Given the description of an element on the screen output the (x, y) to click on. 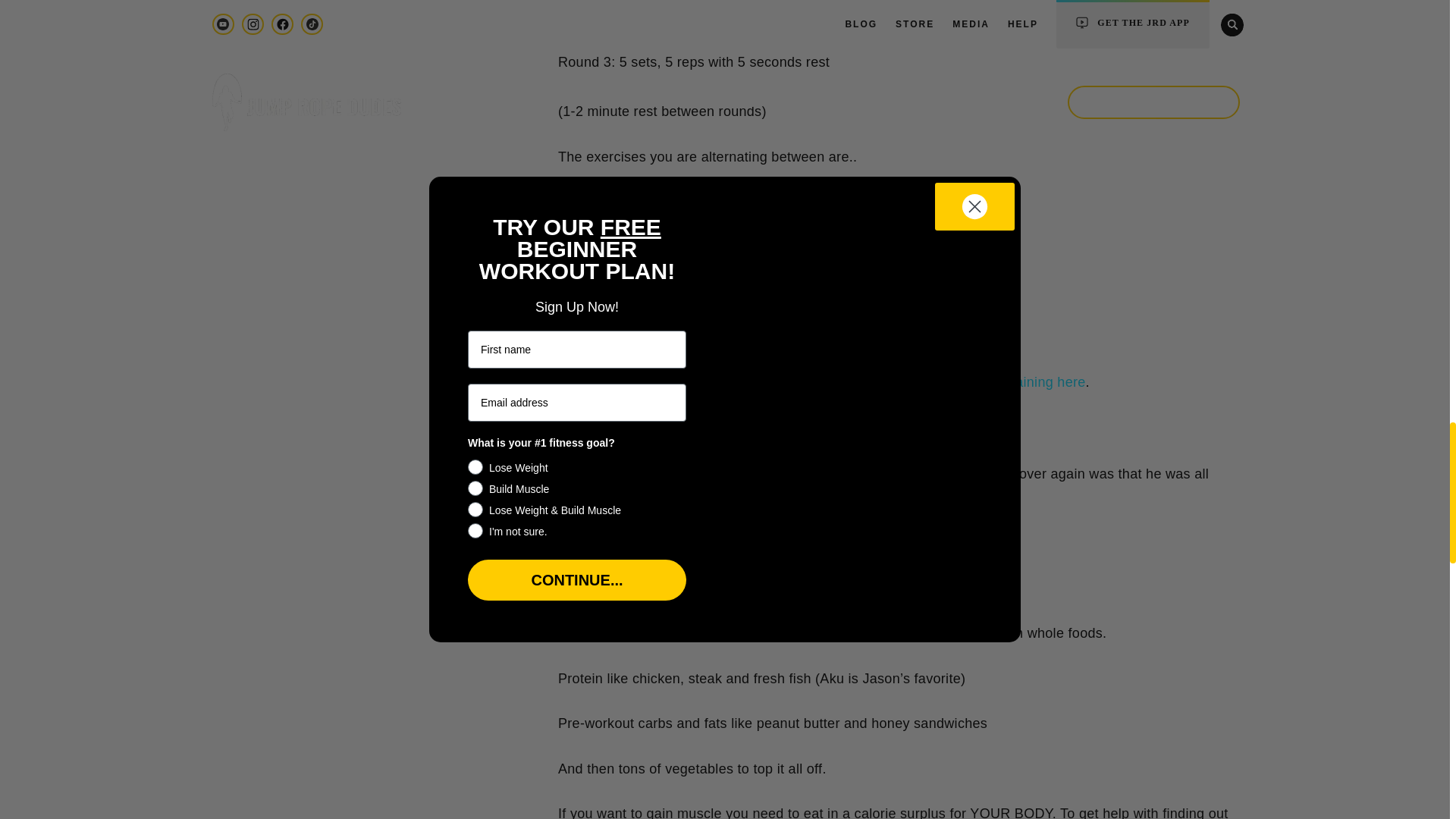
Guinness beer (789, 498)
sample of this type of training here (977, 381)
